Given the description of an element on the screen output the (x, y) to click on. 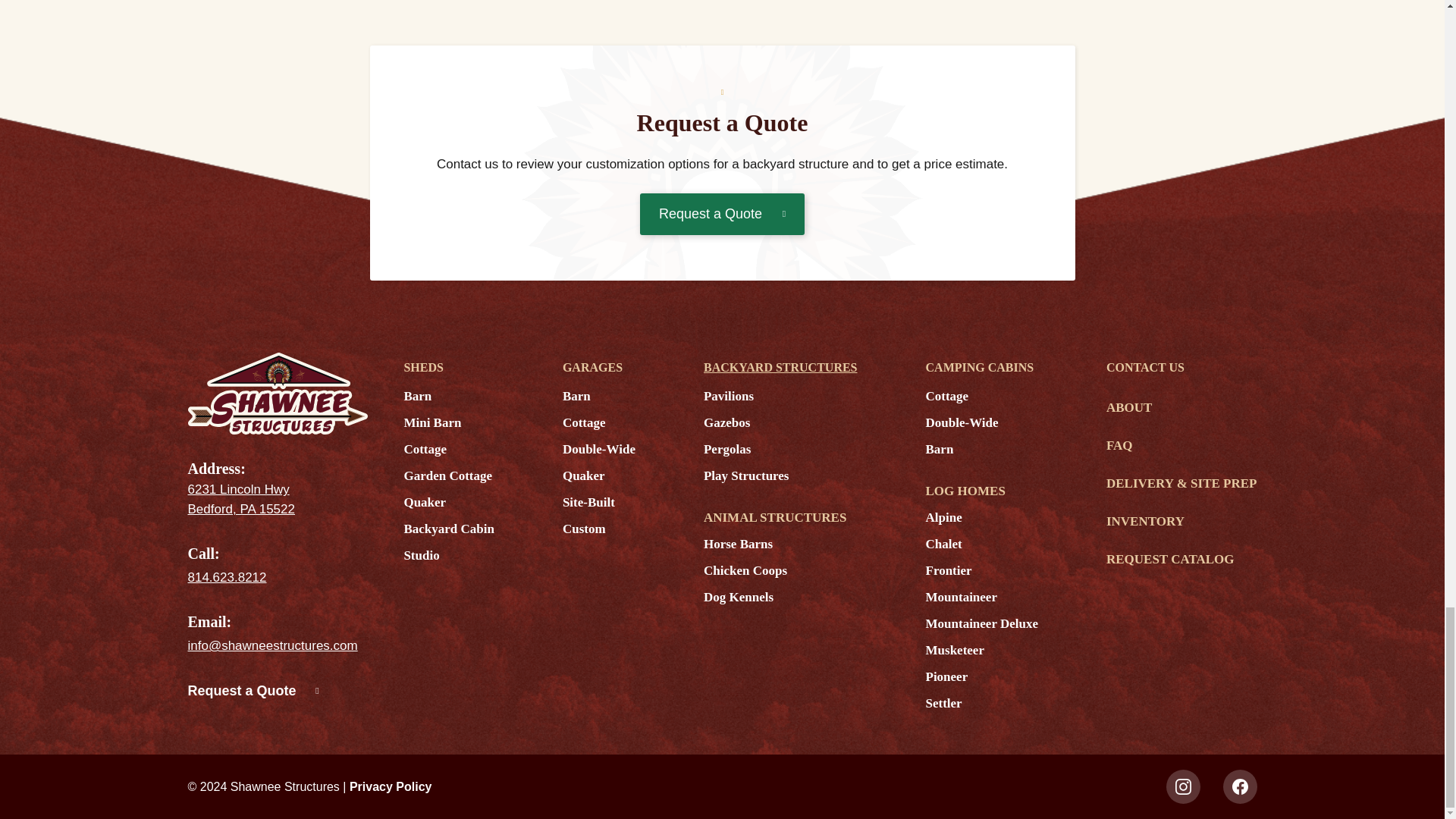
Instagram Icon (1182, 786)
Facebook Icon (1239, 786)
